Given the description of an element on the screen output the (x, y) to click on. 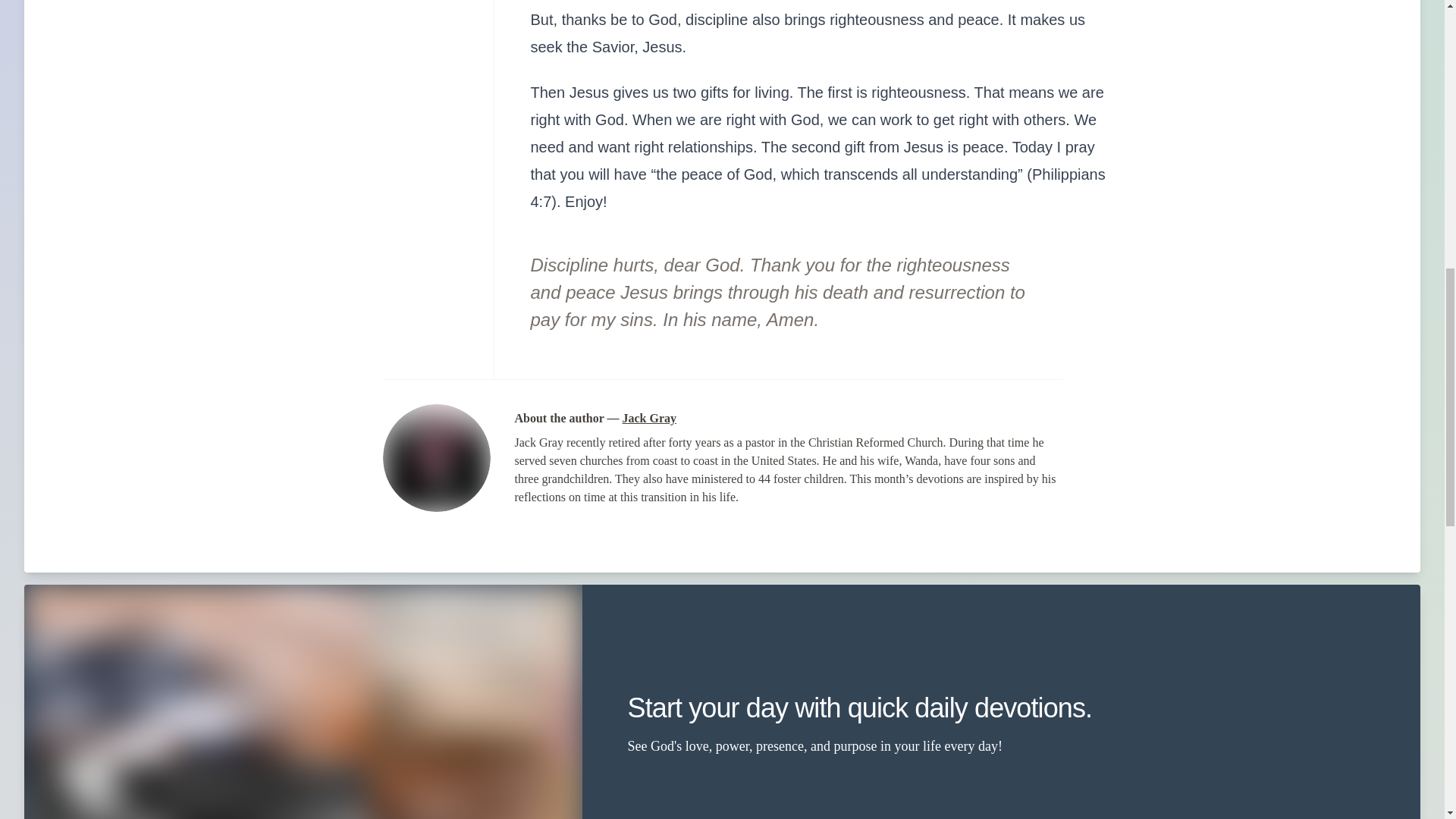
Jack Gray (649, 418)
